Given the description of an element on the screen output the (x, y) to click on. 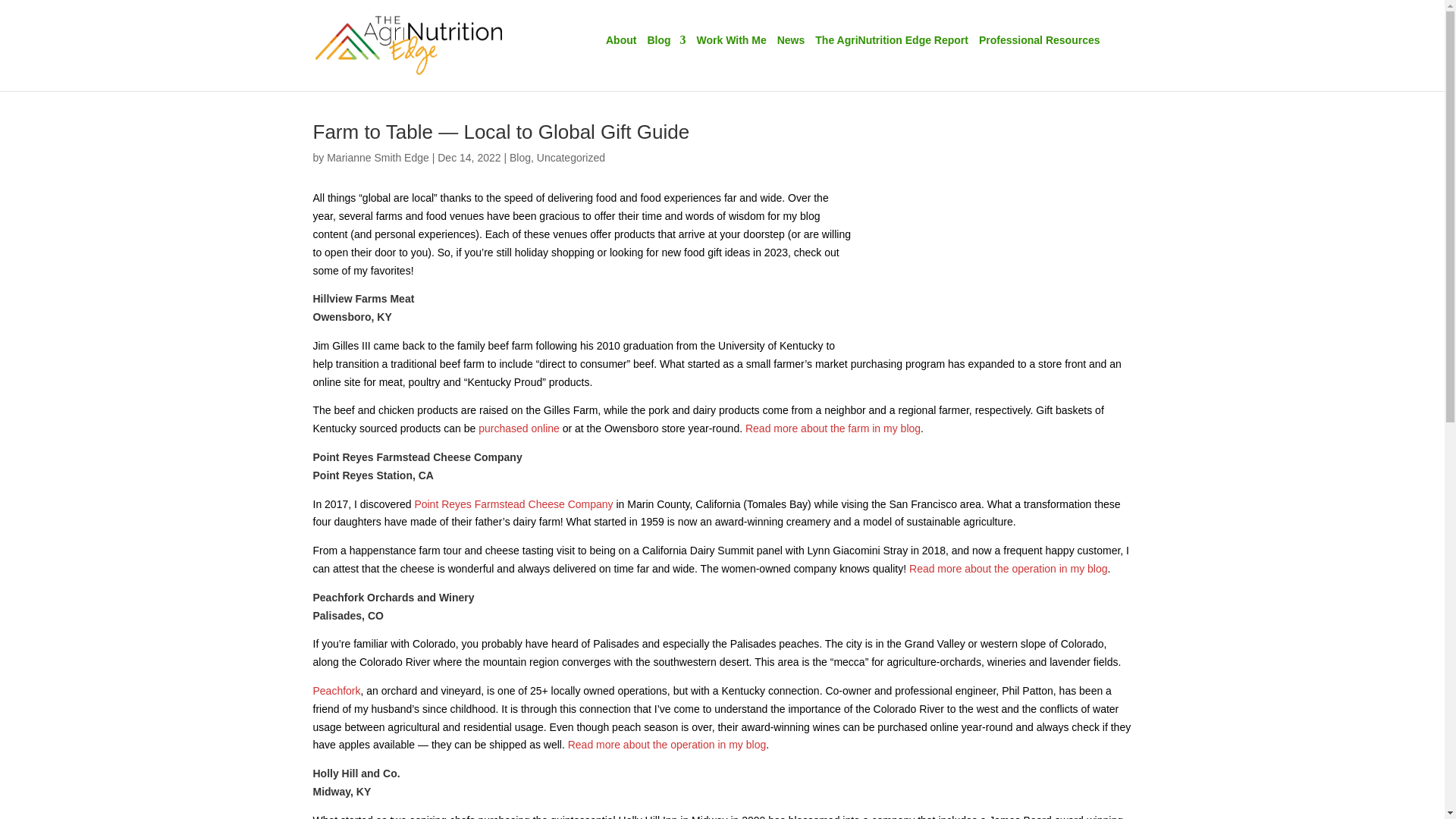
Read more about the operation in my blog (1008, 568)
Peachfork (336, 690)
News (791, 45)
Marianne Smith Edge (377, 157)
Blog (520, 157)
purchased online (519, 428)
Uncategorized (571, 157)
About (620, 45)
Blog (665, 45)
Point Reyes Farmstead Cheese Company (512, 503)
